Given the description of an element on the screen output the (x, y) to click on. 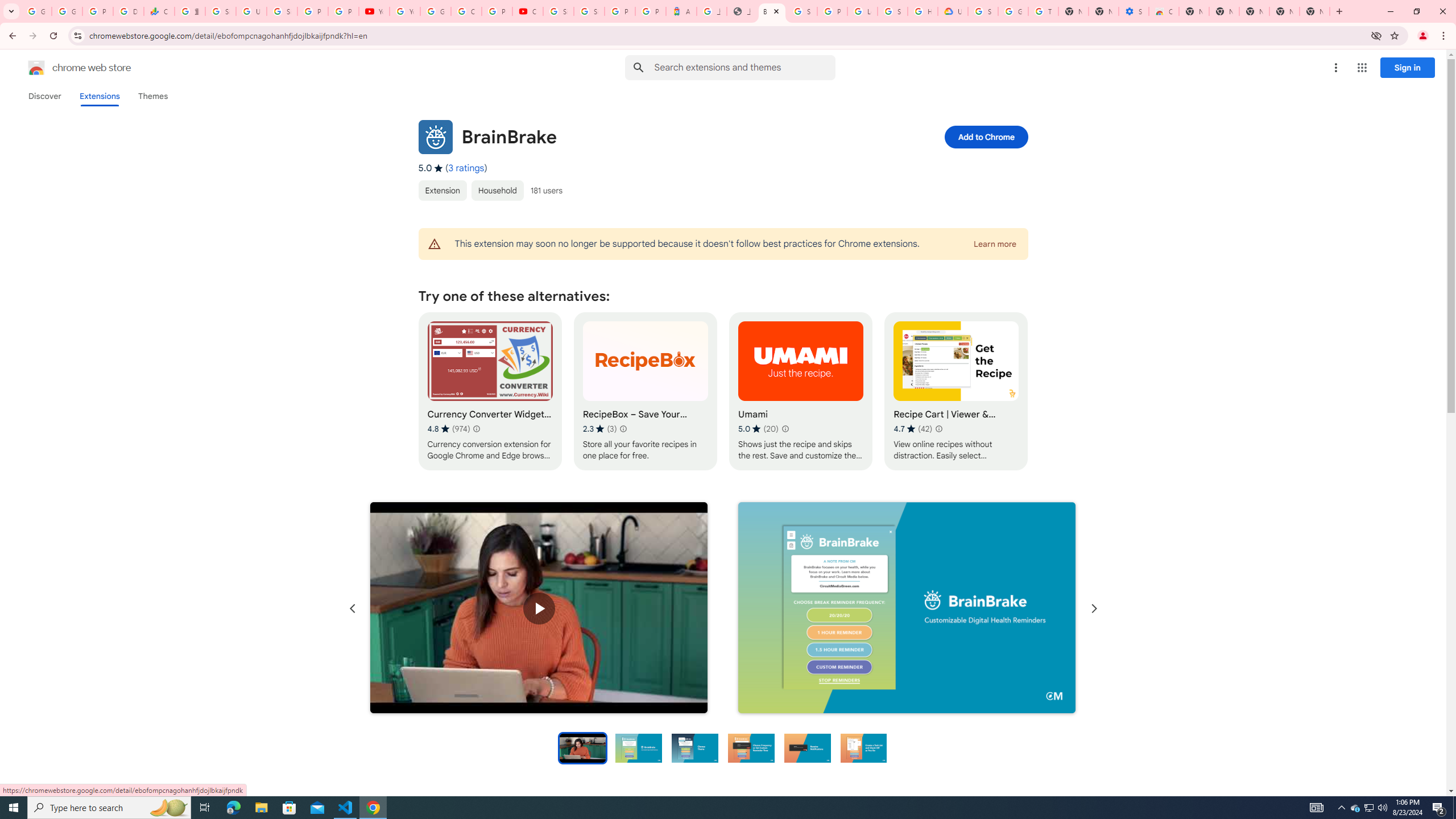
Item logo image for BrainBrake BrainBrake (645, 136)
New Tab (1314, 11)
Add to Chrome (985, 136)
Previous slide (352, 608)
Item media 2 screenshot (906, 607)
BrainBrake - Chrome Web Store (771, 11)
Discover (43, 95)
3 ratings (466, 167)
Average rating 2.3 out of 5 stars. 3 ratings. (599, 428)
